Given the description of an element on the screen output the (x, y) to click on. 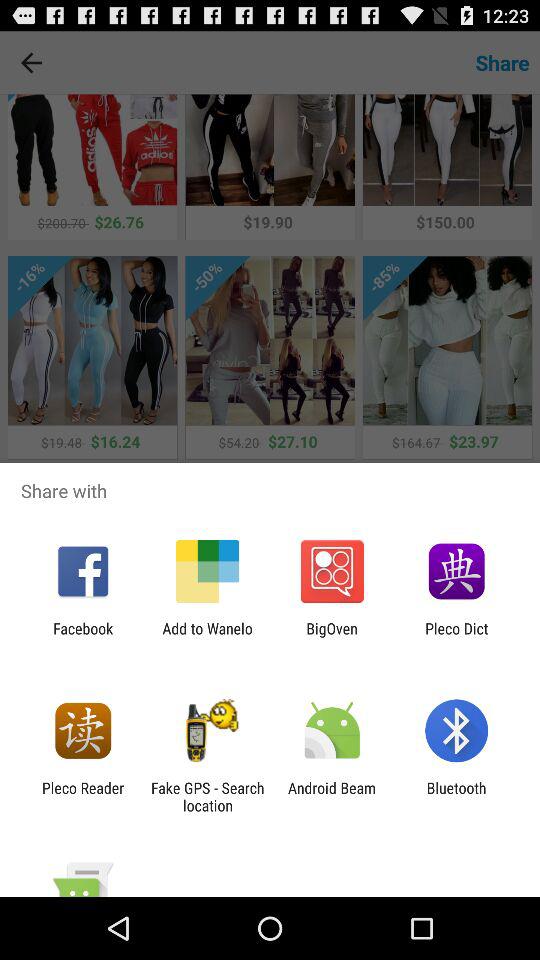
flip until the bigoven icon (331, 637)
